Given the description of an element on the screen output the (x, y) to click on. 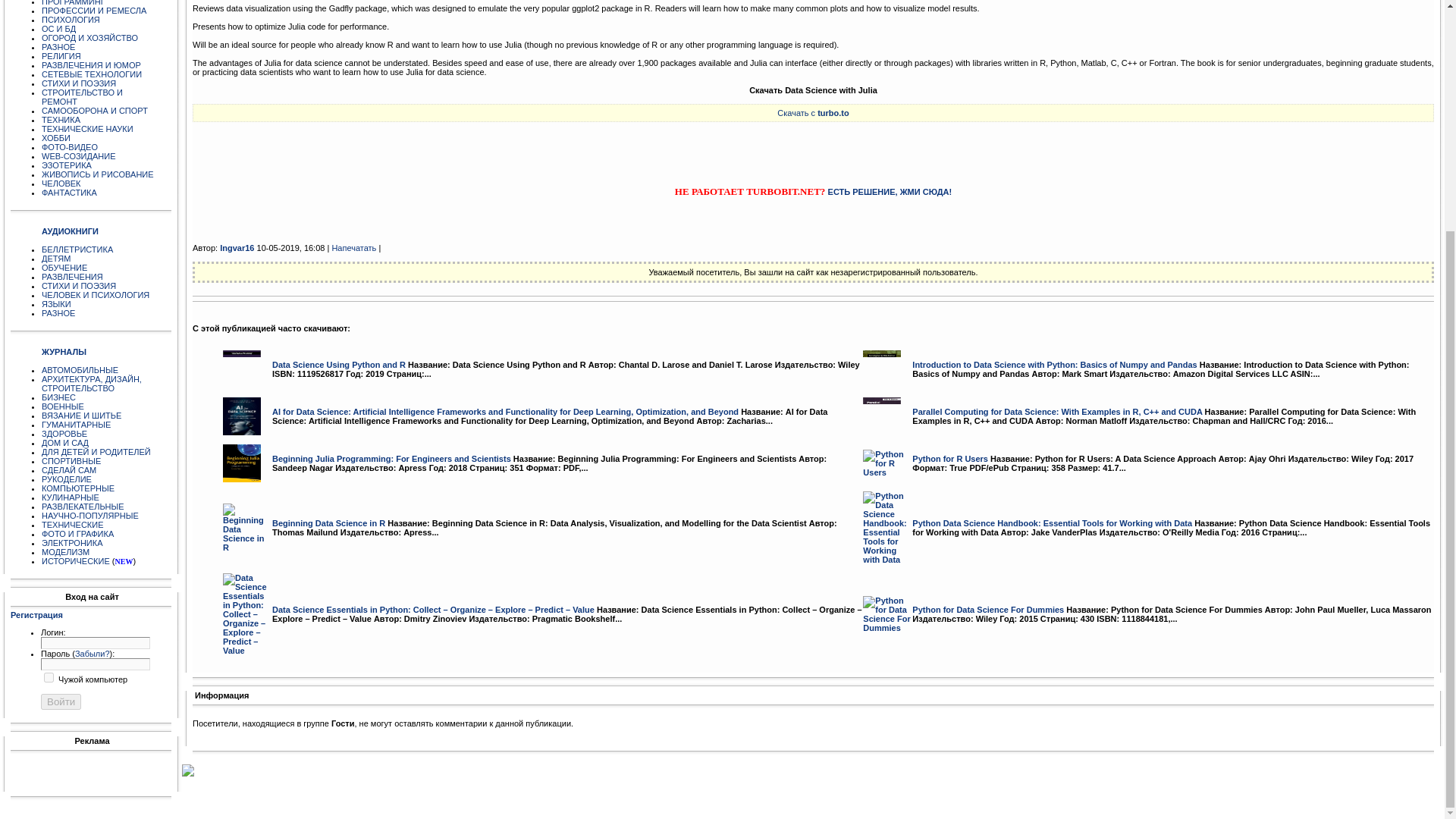
Beginning Julia Programming: For Engineers and Scientists (241, 463)
Python for Data Science For Dummies (887, 614)
Python for R Users (887, 462)
1 (48, 677)
Beginning Data Science in R (247, 527)
Data Science Using Python and R (241, 369)
